Given the description of an element on the screen output the (x, y) to click on. 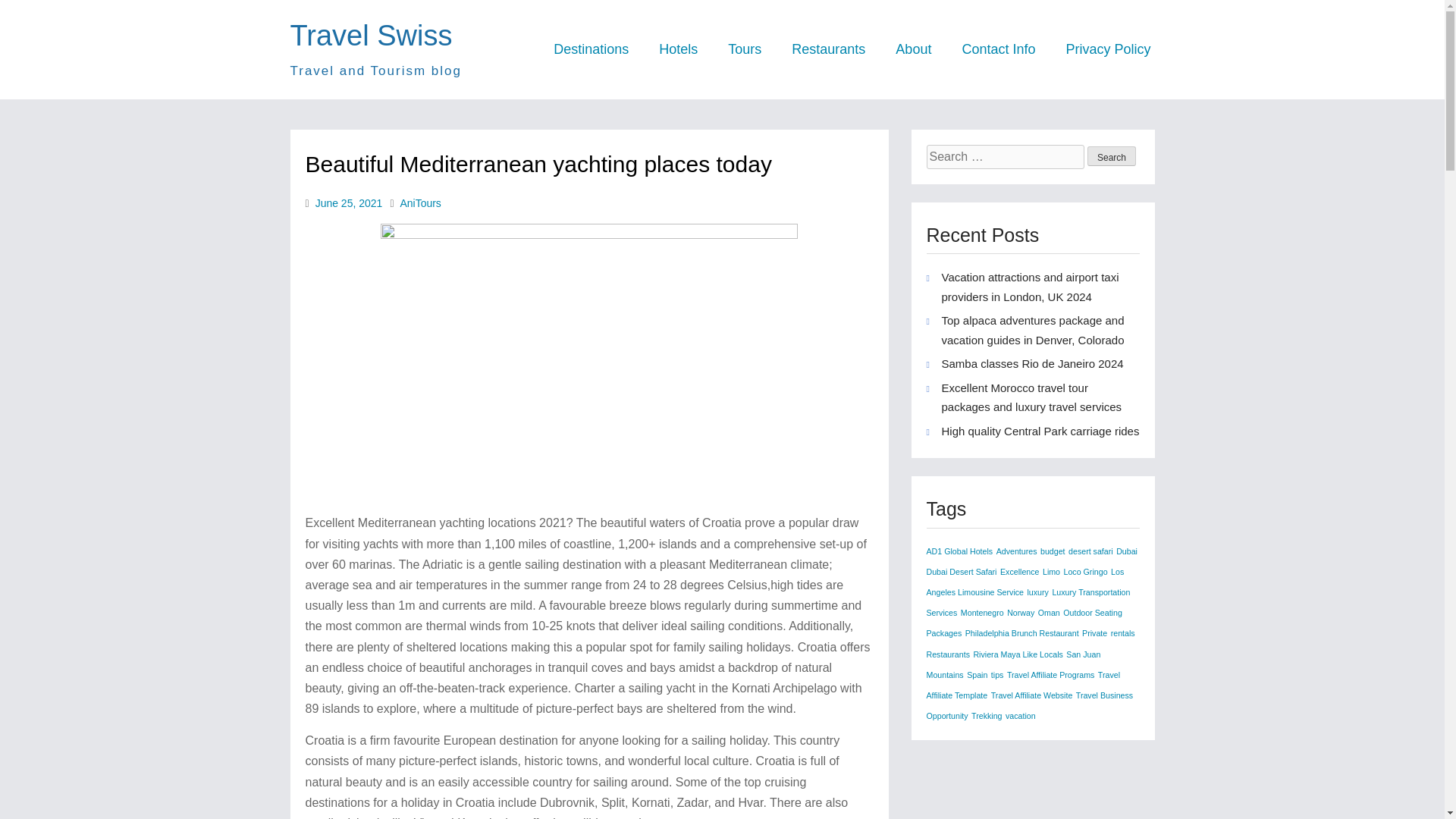
Destinations (590, 49)
desert safari (1090, 551)
Limo (1050, 571)
Samba classes Rio de Janeiro 2024 (1033, 363)
AniTours (419, 203)
Travel Swiss (370, 35)
Restaurants (828, 49)
Privacy Policy (1107, 49)
Dubai (1126, 551)
Contact Info (997, 49)
Loco Gringo (1086, 571)
Excellence (1019, 571)
budget (1053, 551)
